Given the description of an element on the screen output the (x, y) to click on. 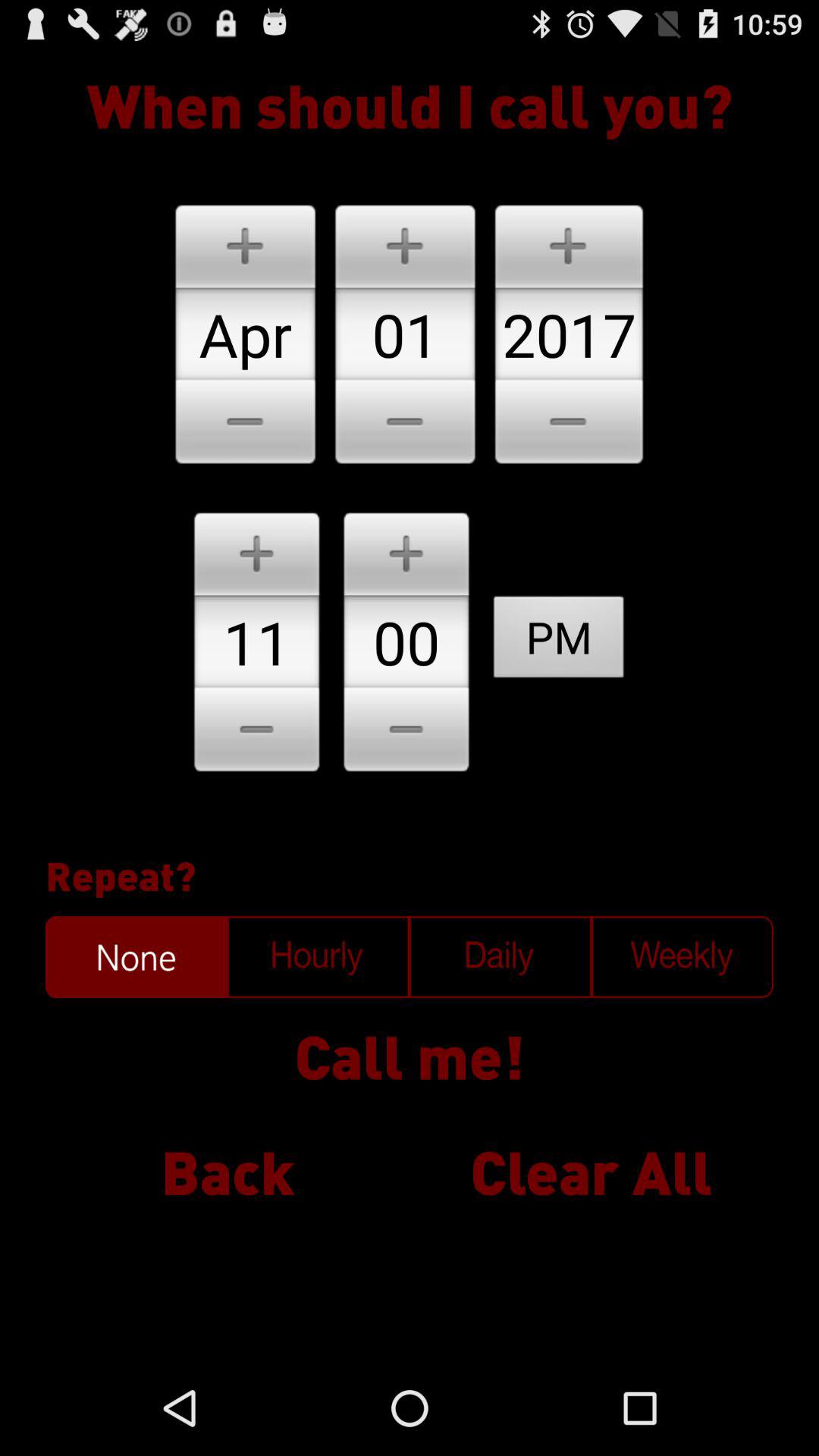
function to select frequency of call none is currently selected (136, 957)
